Given the description of an element on the screen output the (x, y) to click on. 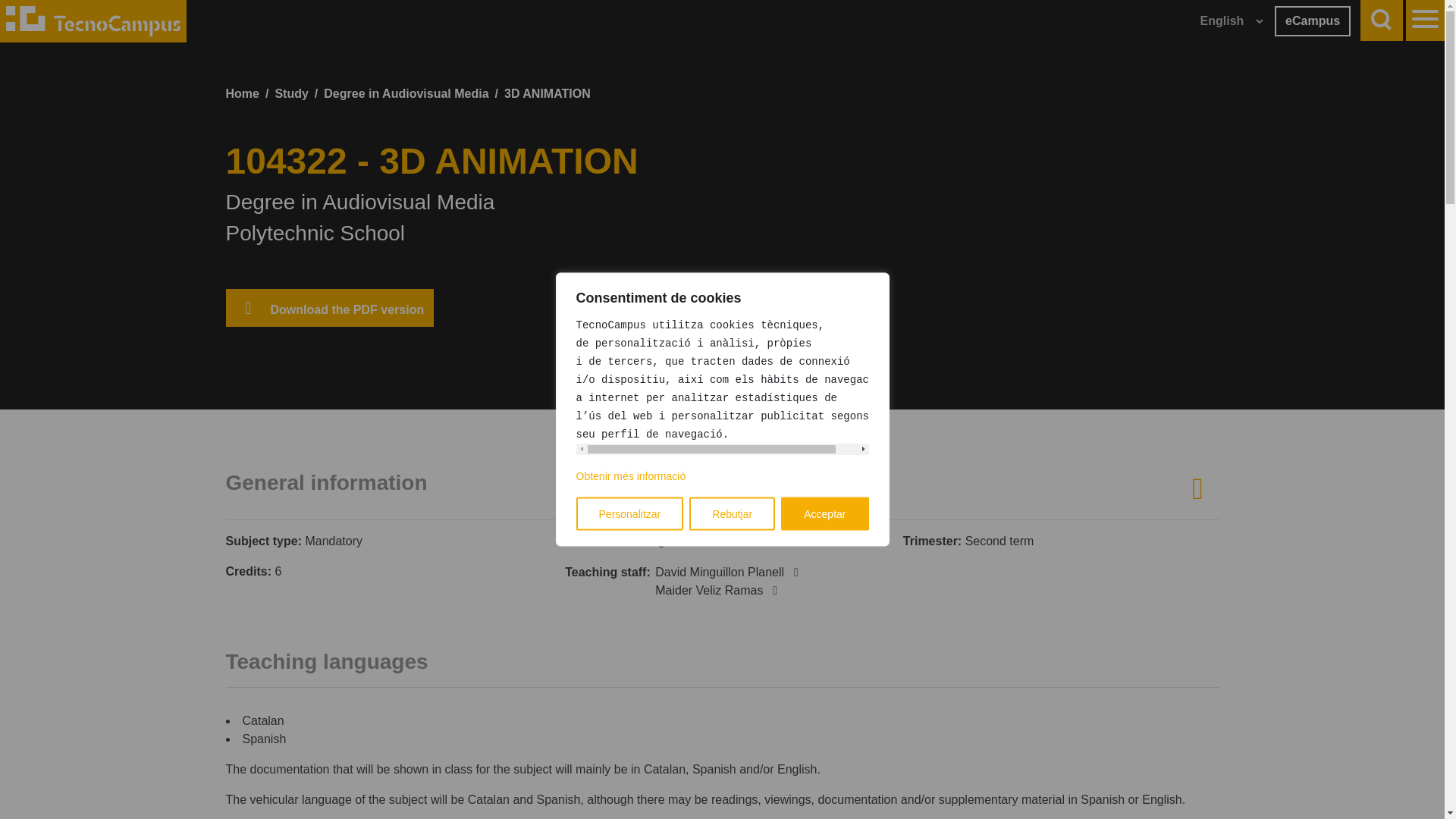
Rebutjar (731, 513)
eCampus (1313, 20)
Personalitzar (630, 513)
Acceptar (823, 513)
eCampus (1313, 20)
Search (1381, 20)
Menu (1425, 17)
TecnoCampus Foundation (93, 21)
